Given the description of an element on the screen output the (x, y) to click on. 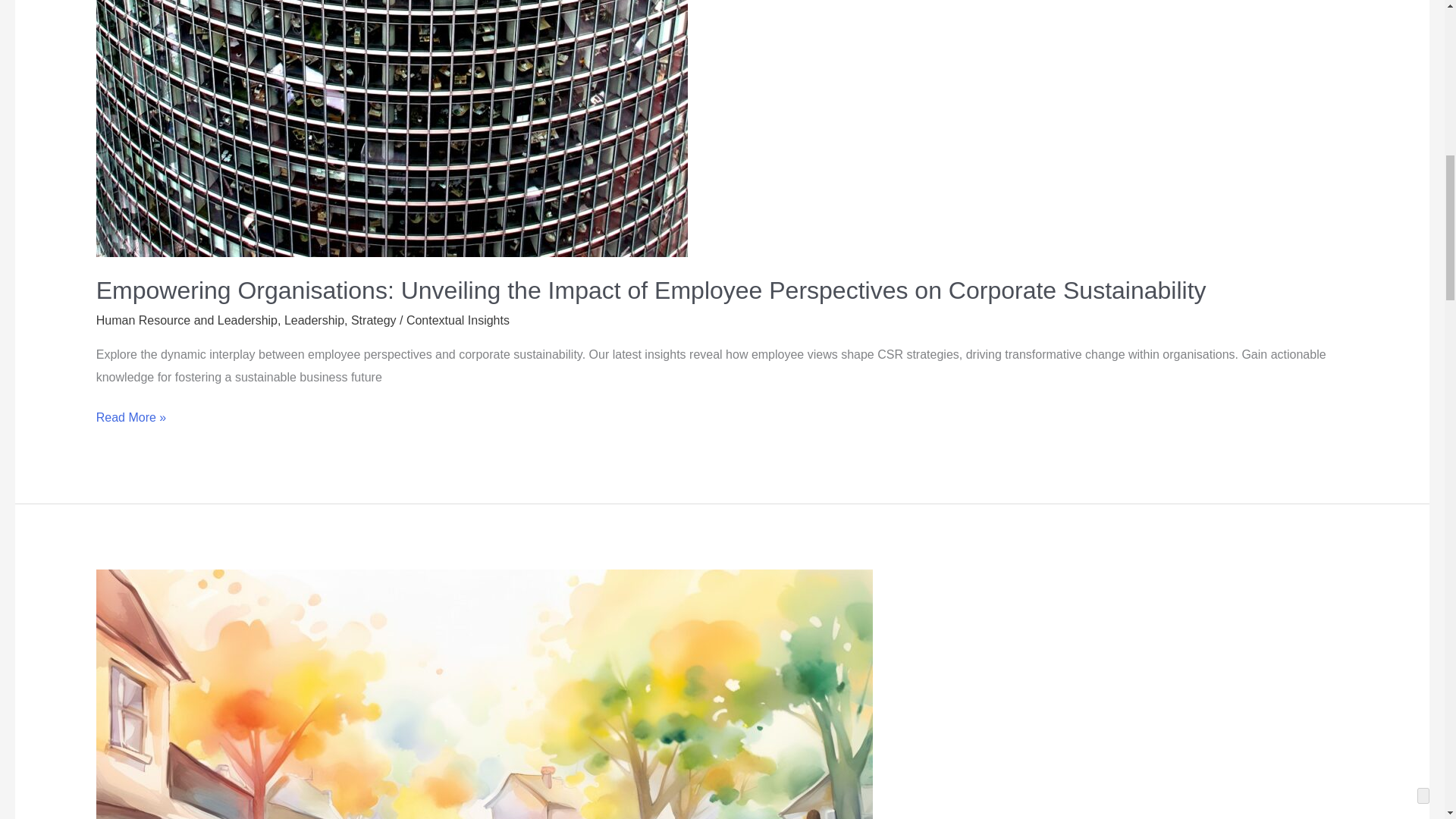
View all posts by Contextual Insights (457, 319)
